Given the description of an element on the screen output the (x, y) to click on. 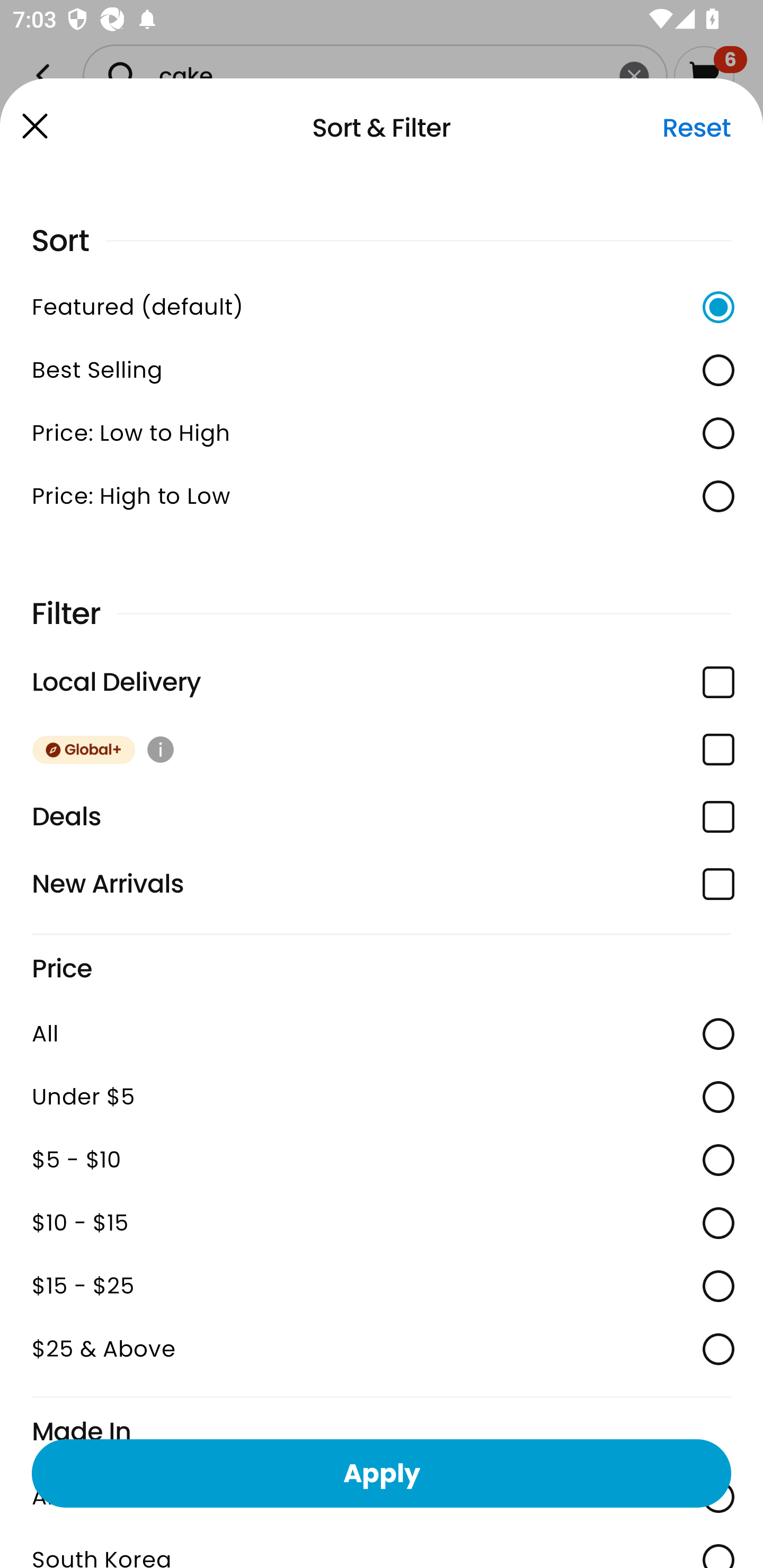
Reset (696, 127)
Apply (381, 1472)
